Given the description of an element on the screen output the (x, y) to click on. 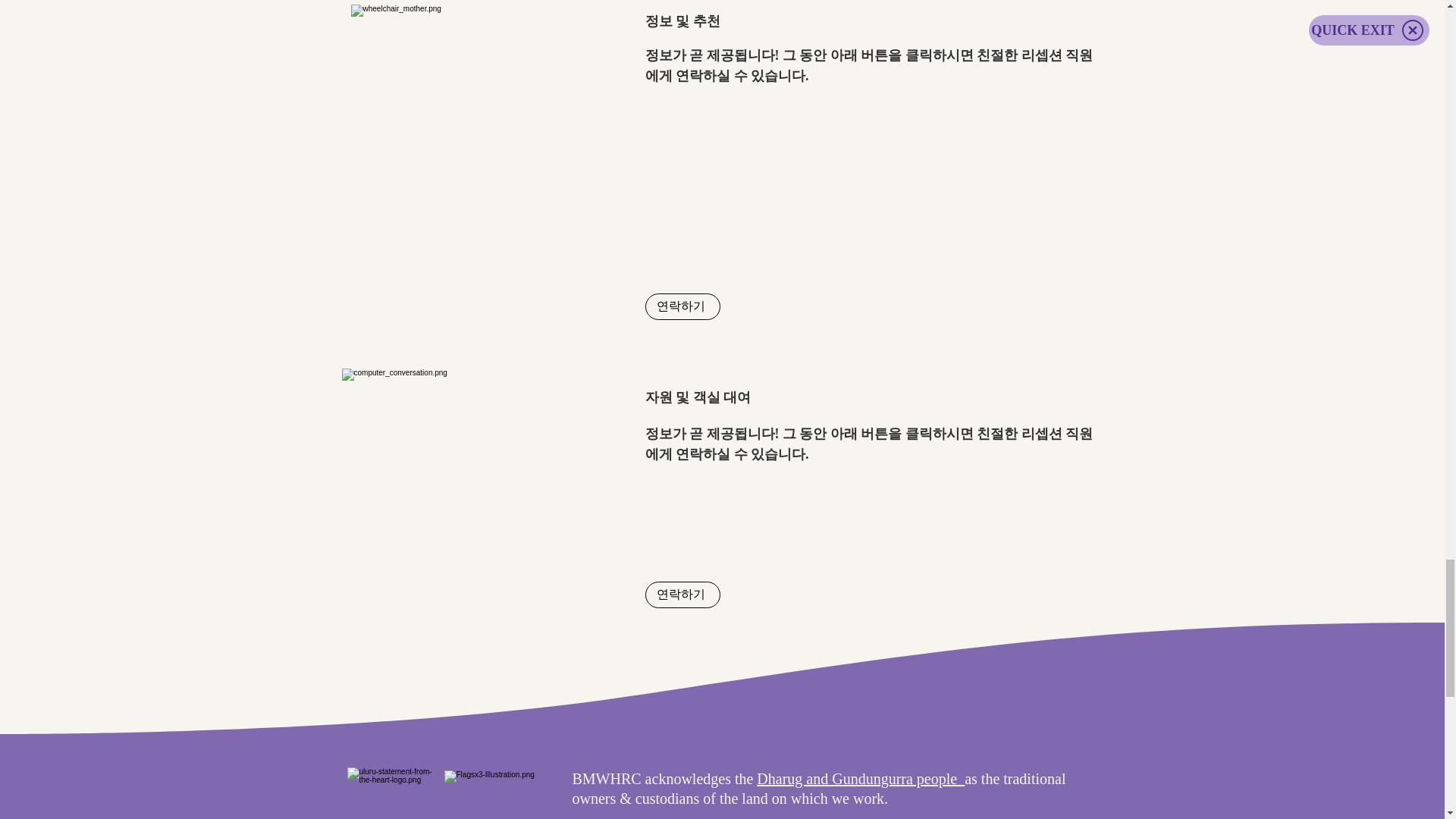
Dharug and Gundungurra people   (860, 778)
